Given the description of an element on the screen output the (x, y) to click on. 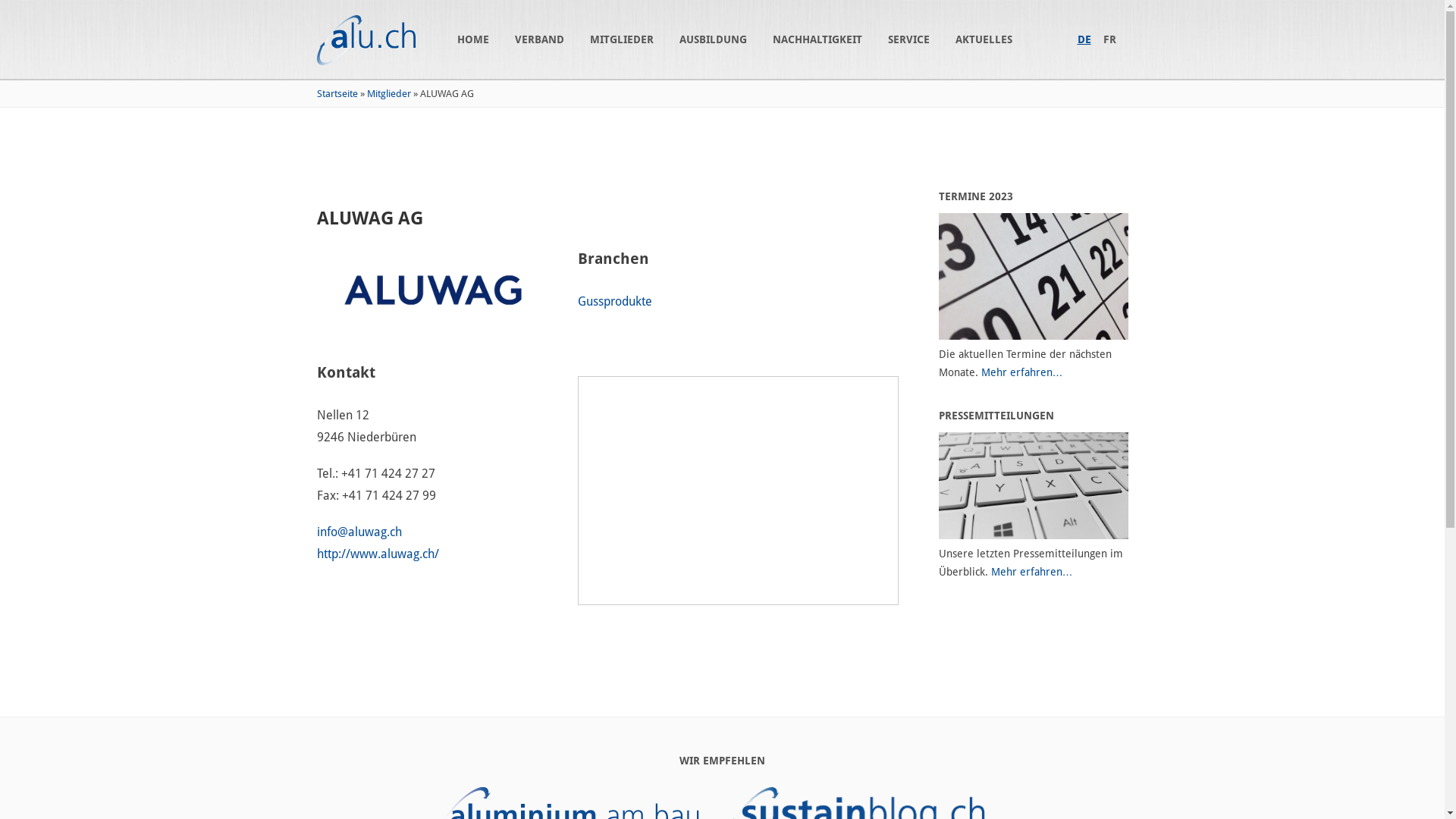
http://www.aluwag.ch/ Element type: text (377, 553)
Gussprodukte Element type: text (614, 301)
VERBAND Element type: text (544, 39)
info@aluwag.ch Element type: text (358, 531)
Mitglieder Element type: text (389, 93)
FR Element type: text (1108, 39)
HOME Element type: text (477, 39)
MITGLIEDER Element type: text (626, 39)
AUSBILDUNG Element type: text (718, 39)
NACHHALTIGKEIT Element type: text (821, 39)
SERVICE Element type: text (913, 39)
Startseite Element type: text (336, 93)
AKTUELLES Element type: text (983, 39)
